Given the description of an element on the screen output the (x, y) to click on. 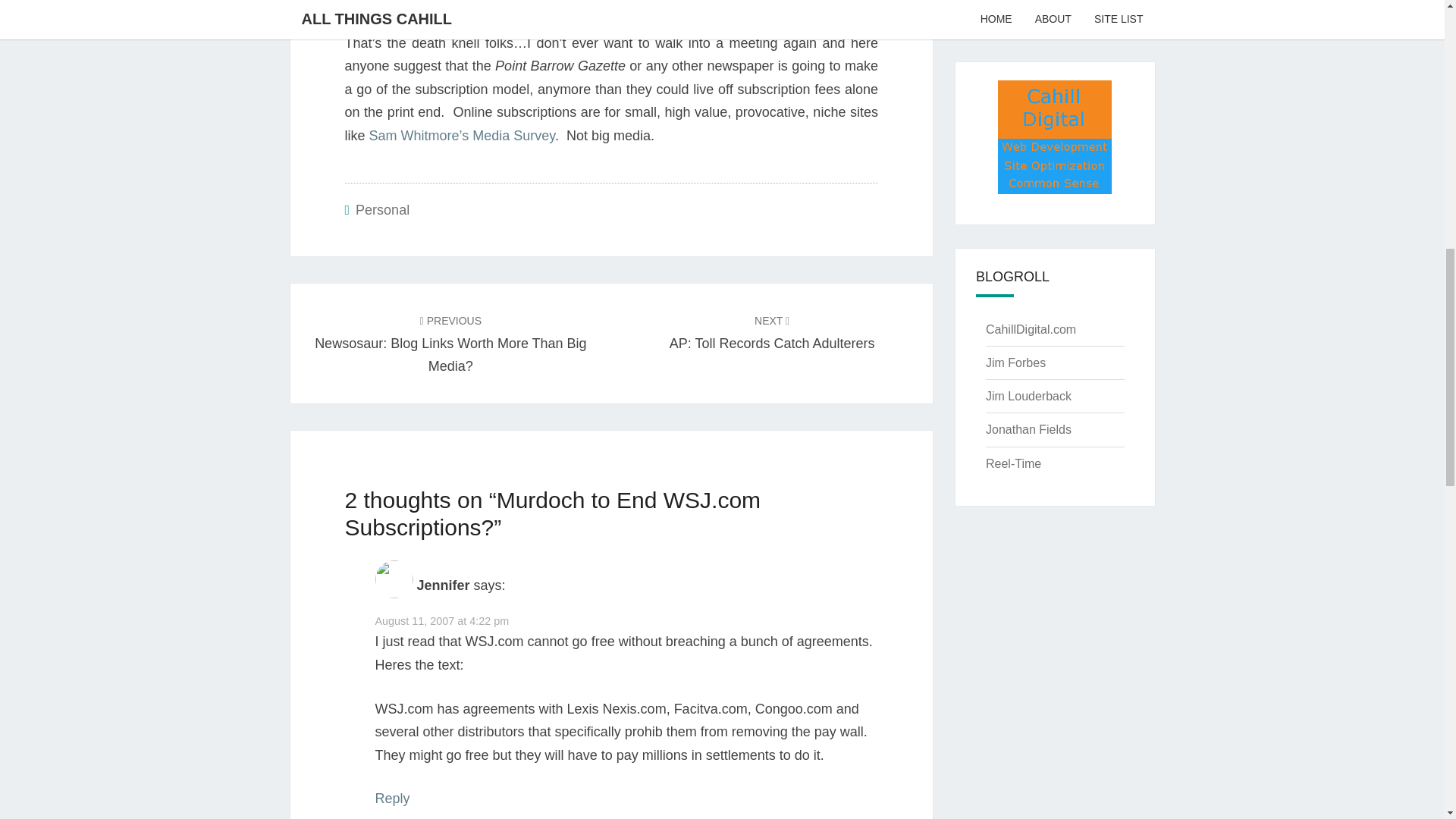
Maintenance Plan for Small Business Websites (1053, 1)
Jonathan Fields (1028, 429)
The Internet Journal of Saltwater Fly Fishing (1013, 463)
Jim Forbes (1015, 362)
Reply (391, 798)
Personal (450, 342)
Forbes On Tech (382, 209)
CahillDigital.com (1015, 362)
